Given the description of an element on the screen output the (x, y) to click on. 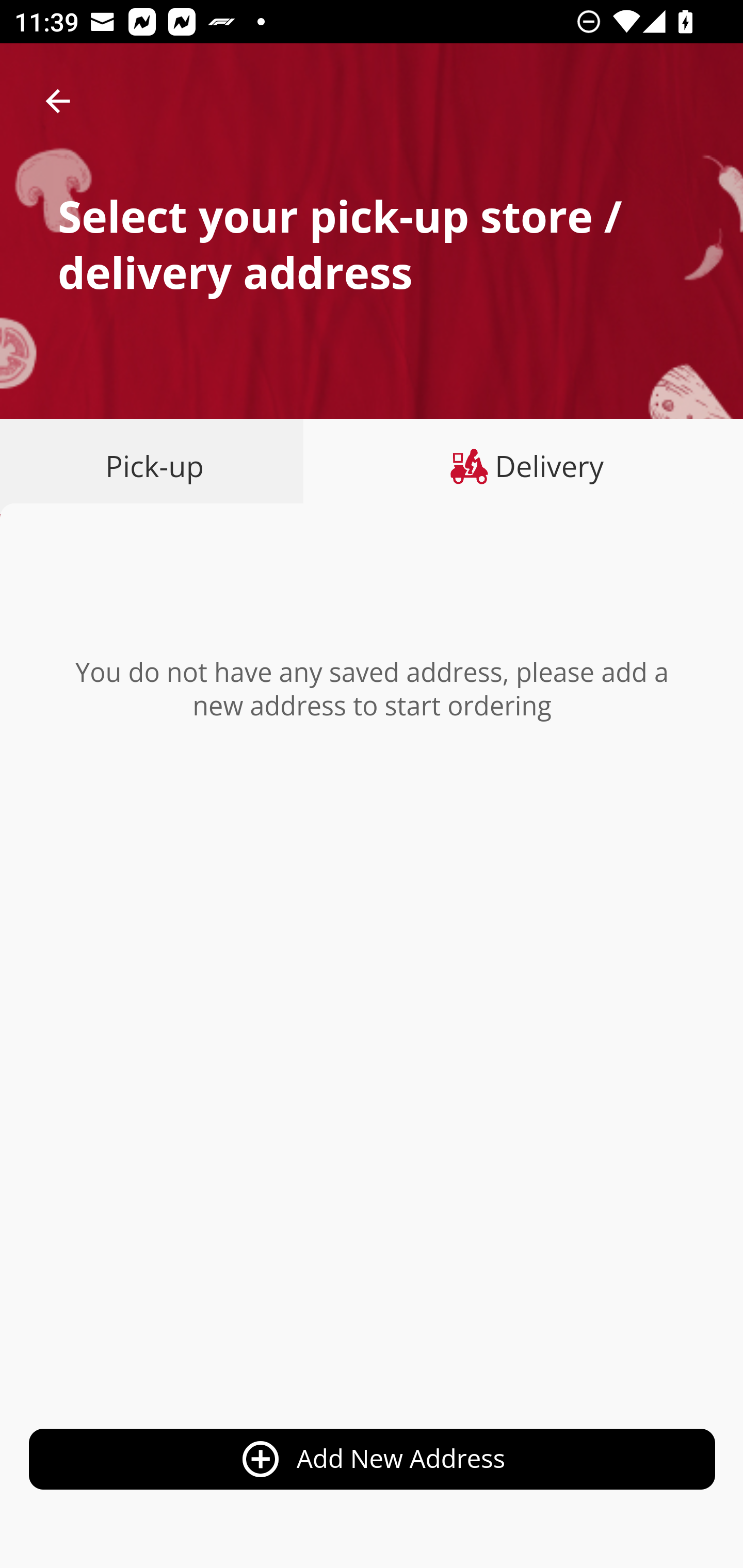
arrow_back (58, 100)
Pick-up (157, 466)
Delivery (523, 466)
add_circle_outline Add New Address (372, 1459)
